Given the description of an element on the screen output the (x, y) to click on. 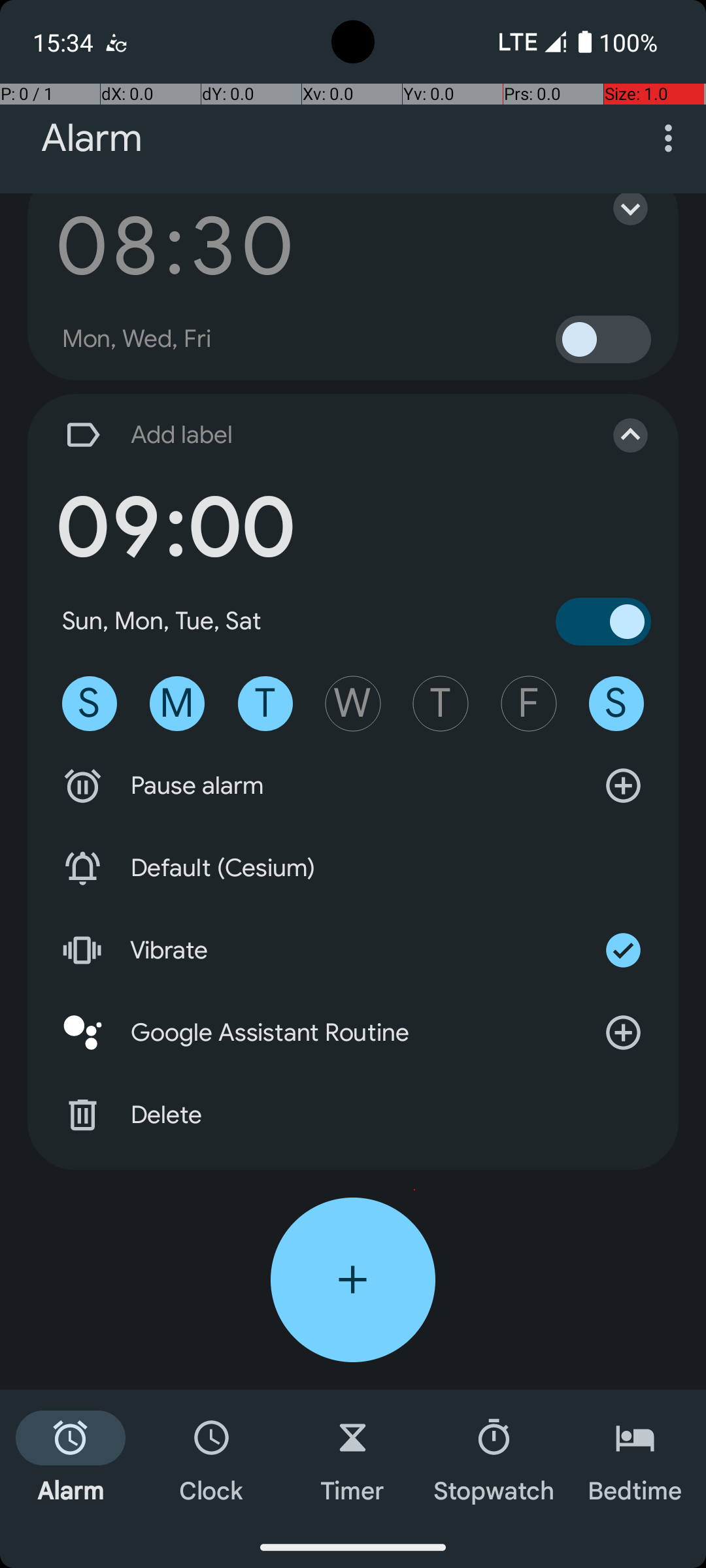
Mon, Wed, Fri Element type: android.widget.TextView (136, 338)
Add label Element type: android.widget.TextView (318, 434)
Collapse alarm Element type: android.widget.ImageButton (616, 434)
Sun, Mon, Tue, Sat Element type: android.widget.TextView (161, 620)
Pause alarm Element type: android.widget.TextView (352, 785)
Google Assistant Routine Element type: android.widget.TextView (352, 1032)
